Given the description of an element on the screen output the (x, y) to click on. 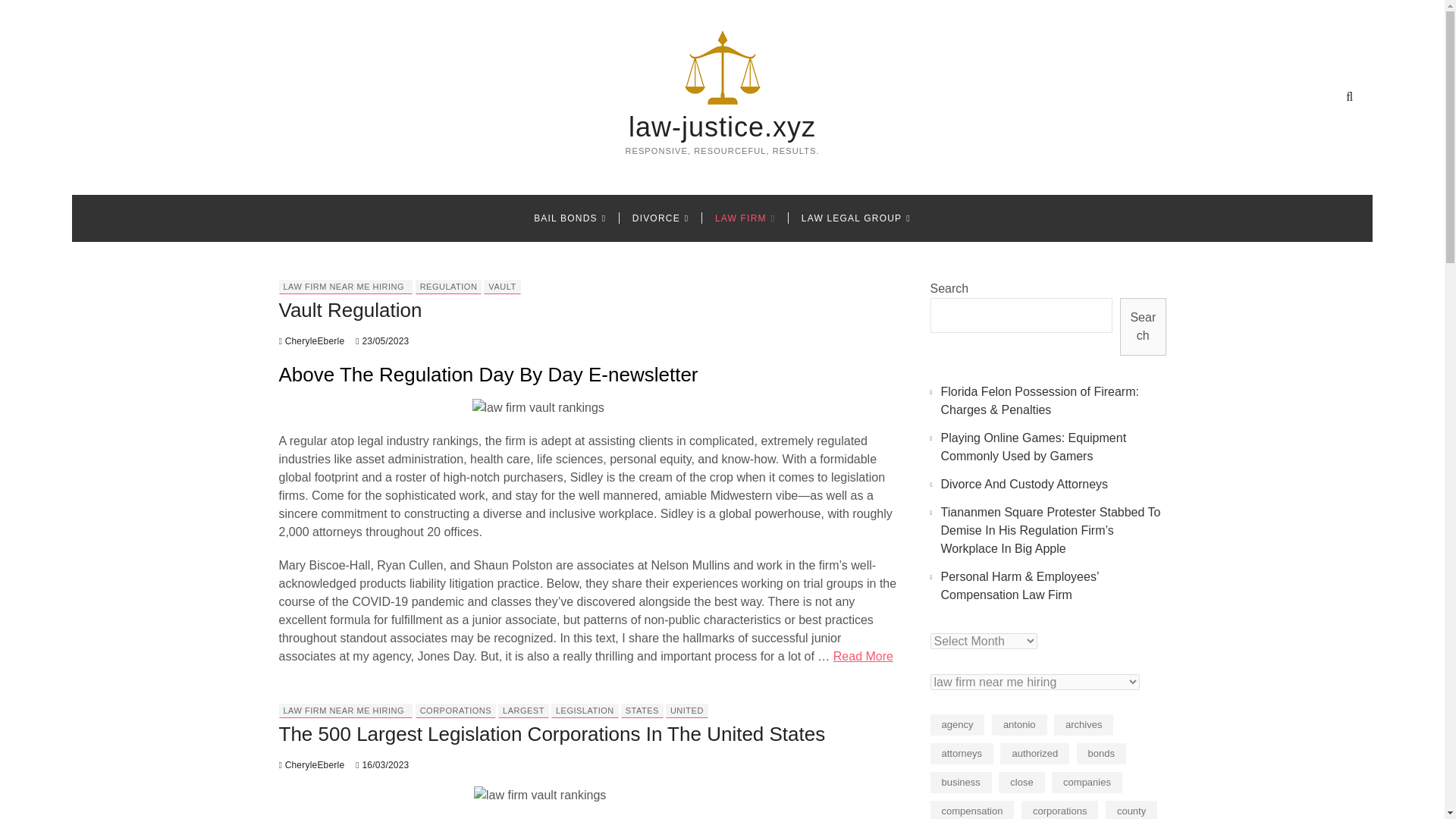
Vault Regulation (312, 340)
law-justice.xyz (722, 127)
LAW LEGAL GROUP (855, 217)
DIVORCE (660, 217)
LAW FIRM (744, 217)
Vault Regulation (350, 309)
law-justice.xyz (722, 127)
BAIL BONDS (569, 217)
